Given the description of an element on the screen output the (x, y) to click on. 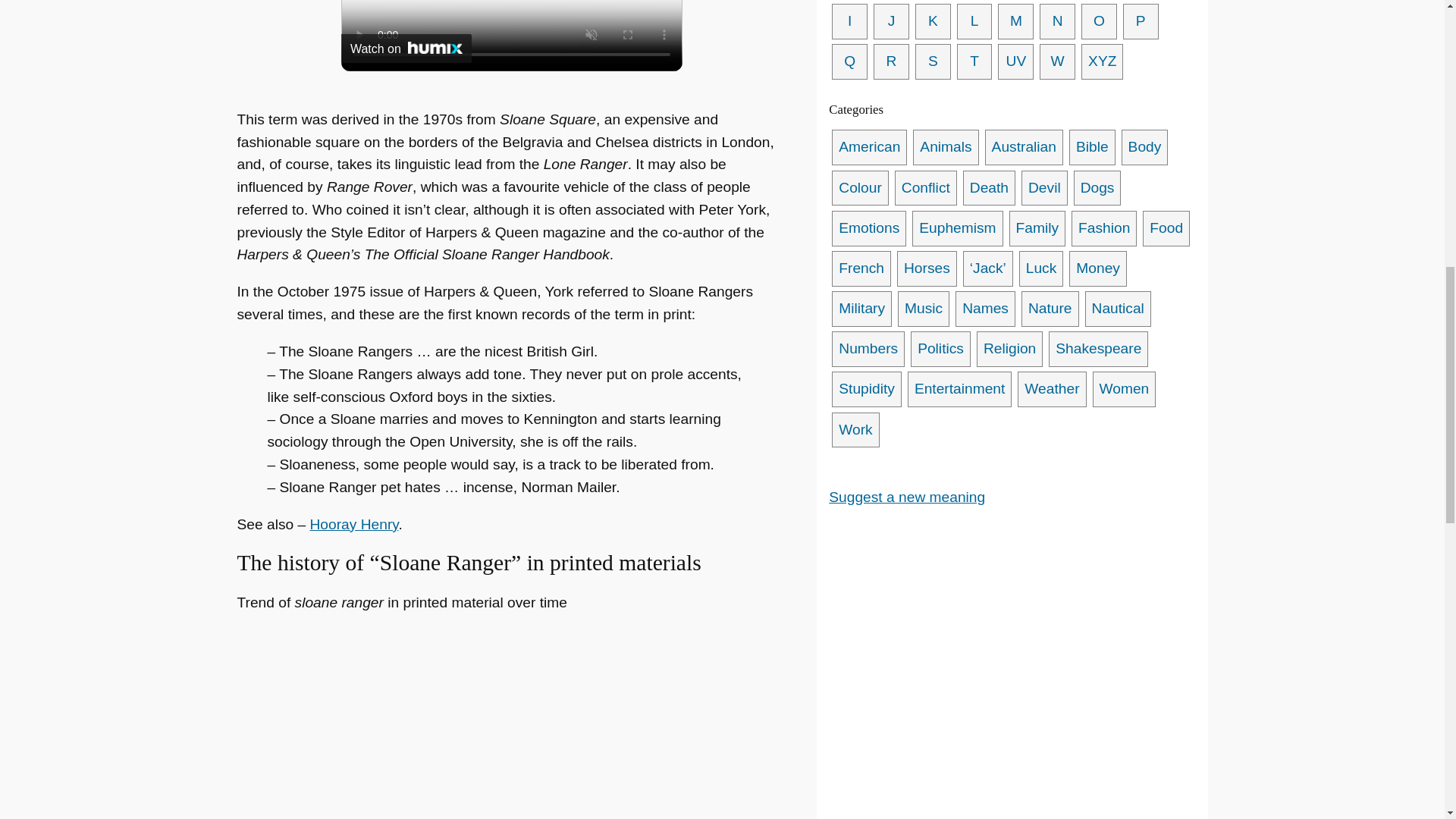
Watch on (405, 48)
Hooray Henry (354, 524)
